Given the description of an element on the screen output the (x, y) to click on. 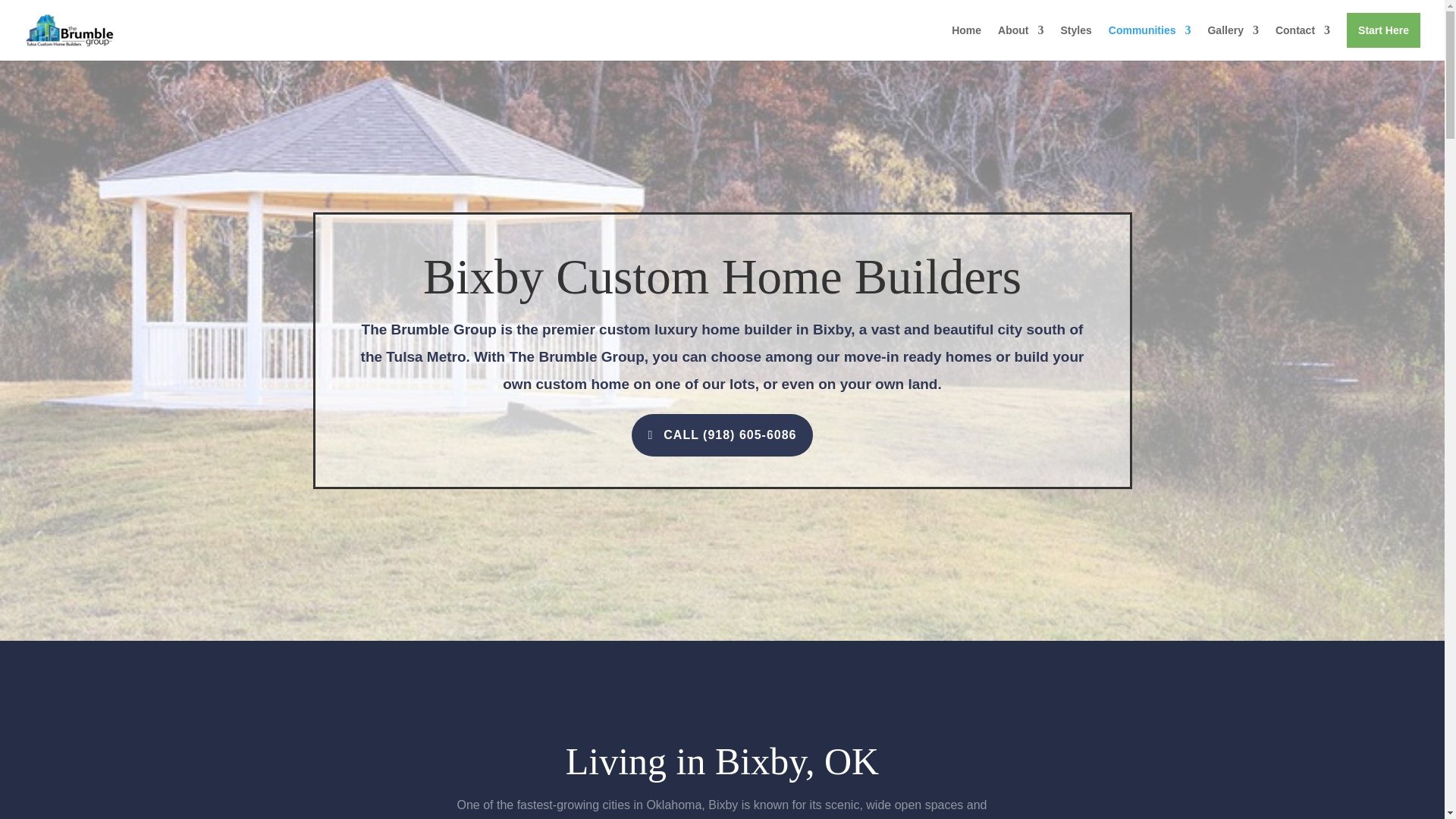
Gallery (1232, 42)
Communities (1149, 42)
Start Here (1383, 42)
About (1020, 42)
Contact (1302, 42)
